Given the description of an element on the screen output the (x, y) to click on. 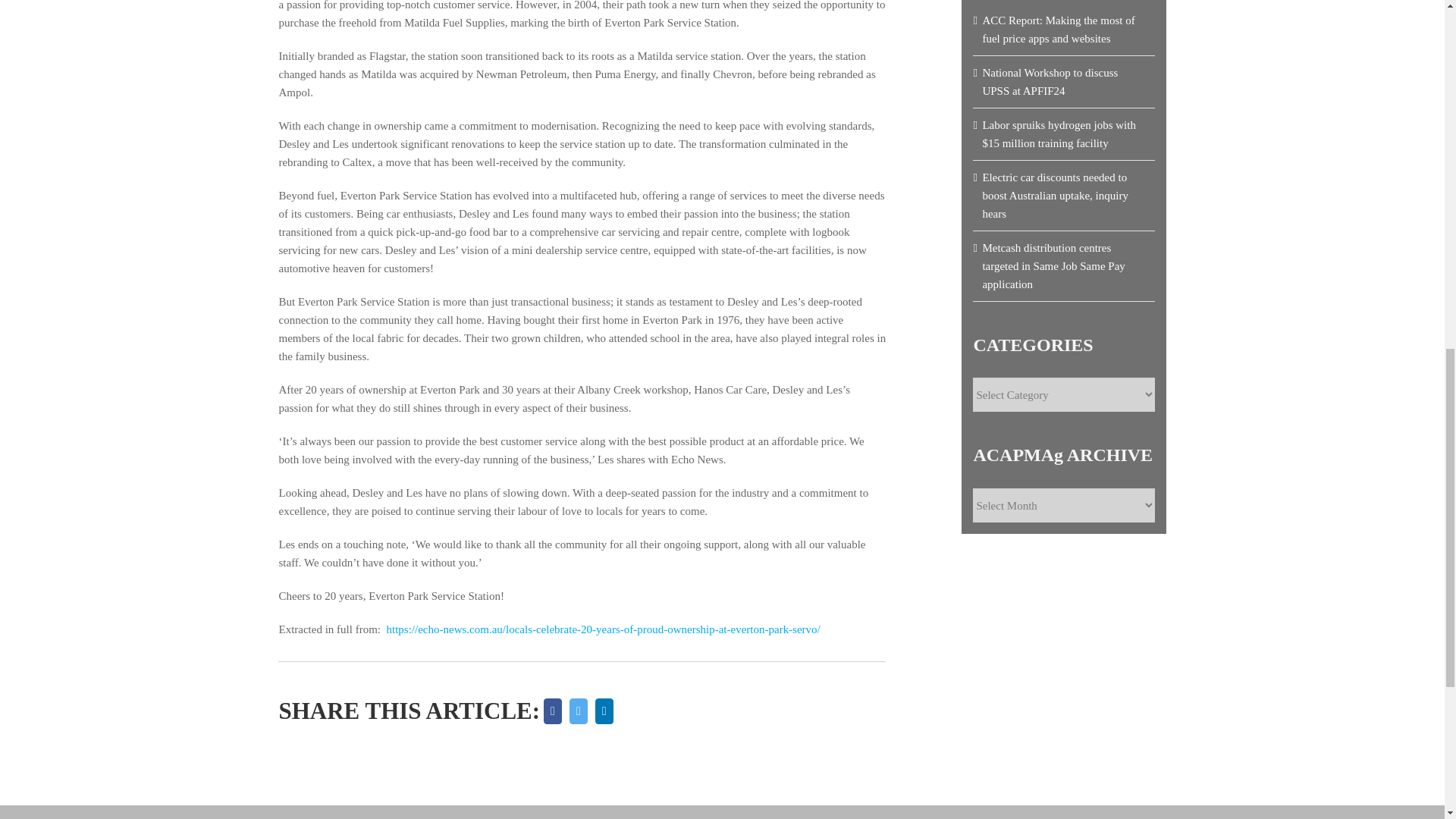
ACC Report: Making the most of fuel price apps and websites (1057, 29)
National Workshop to discuss UPSS at APFIF24 (1049, 81)
